Given the description of an element on the screen output the (x, y) to click on. 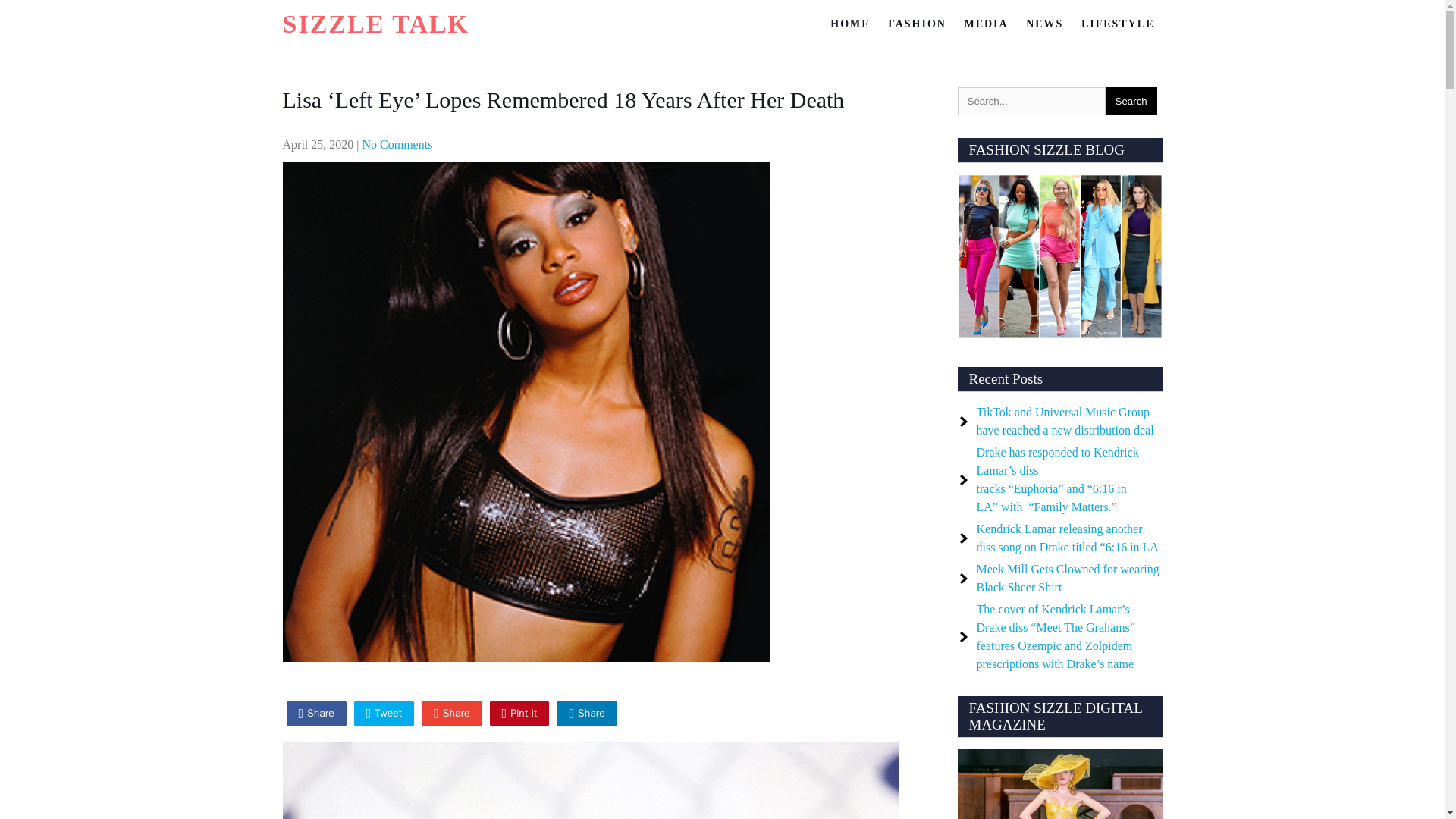
No Comments (396, 144)
FASHION (916, 24)
Pint it (519, 713)
Share (451, 713)
HOME (849, 24)
Search (1131, 100)
NEWS (1043, 24)
MEDIA (985, 24)
Share (585, 713)
Tweet (383, 713)
SIZZLE TALK (375, 23)
LIFESTYLE (1117, 24)
Search (1131, 100)
Share (316, 713)
